Given the description of an element on the screen output the (x, y) to click on. 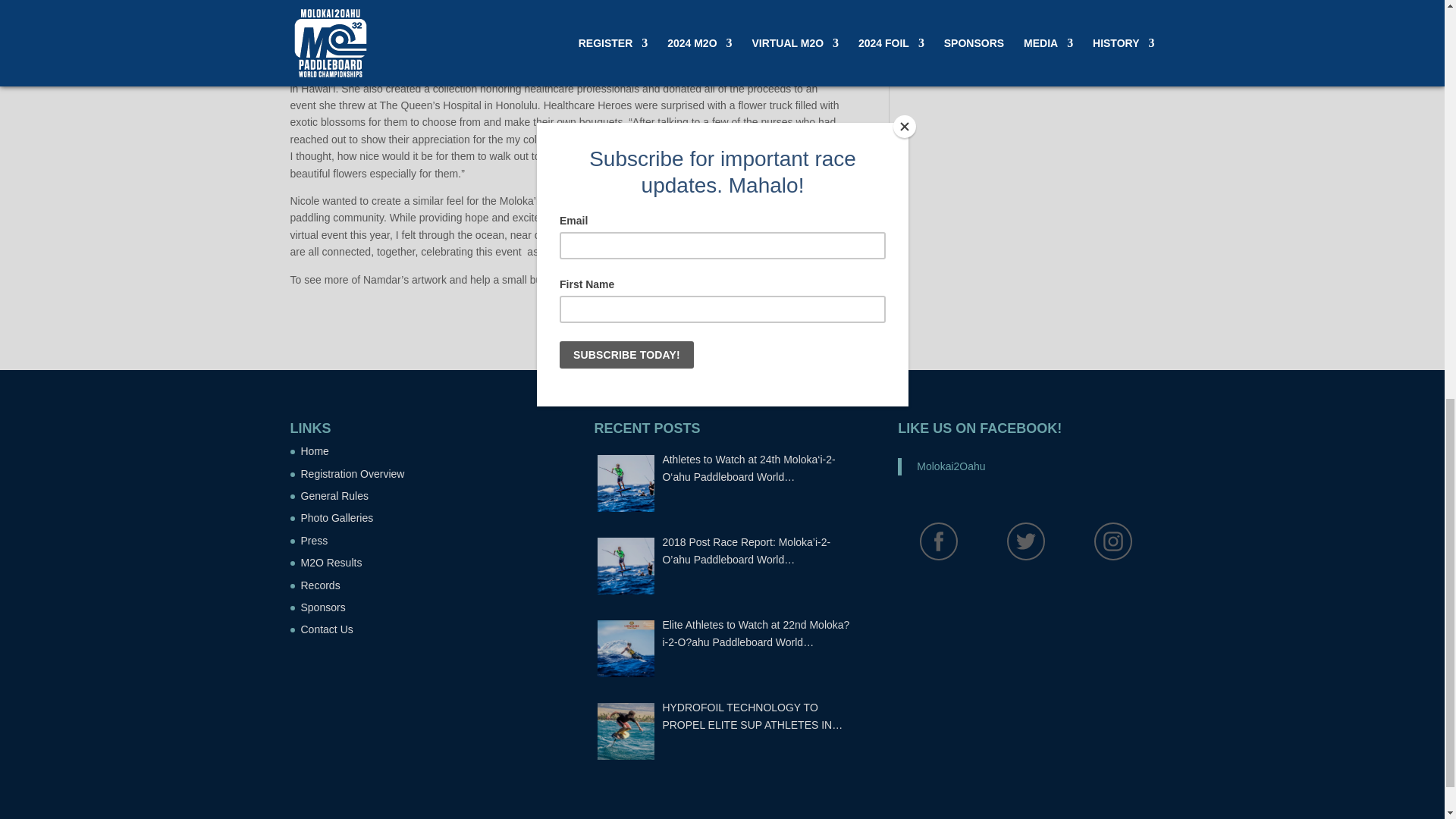
Facebook Icon (938, 541)
Instagram Icon (1112, 541)
Twitter Icon (1025, 541)
